Given the description of an element on the screen output the (x, y) to click on. 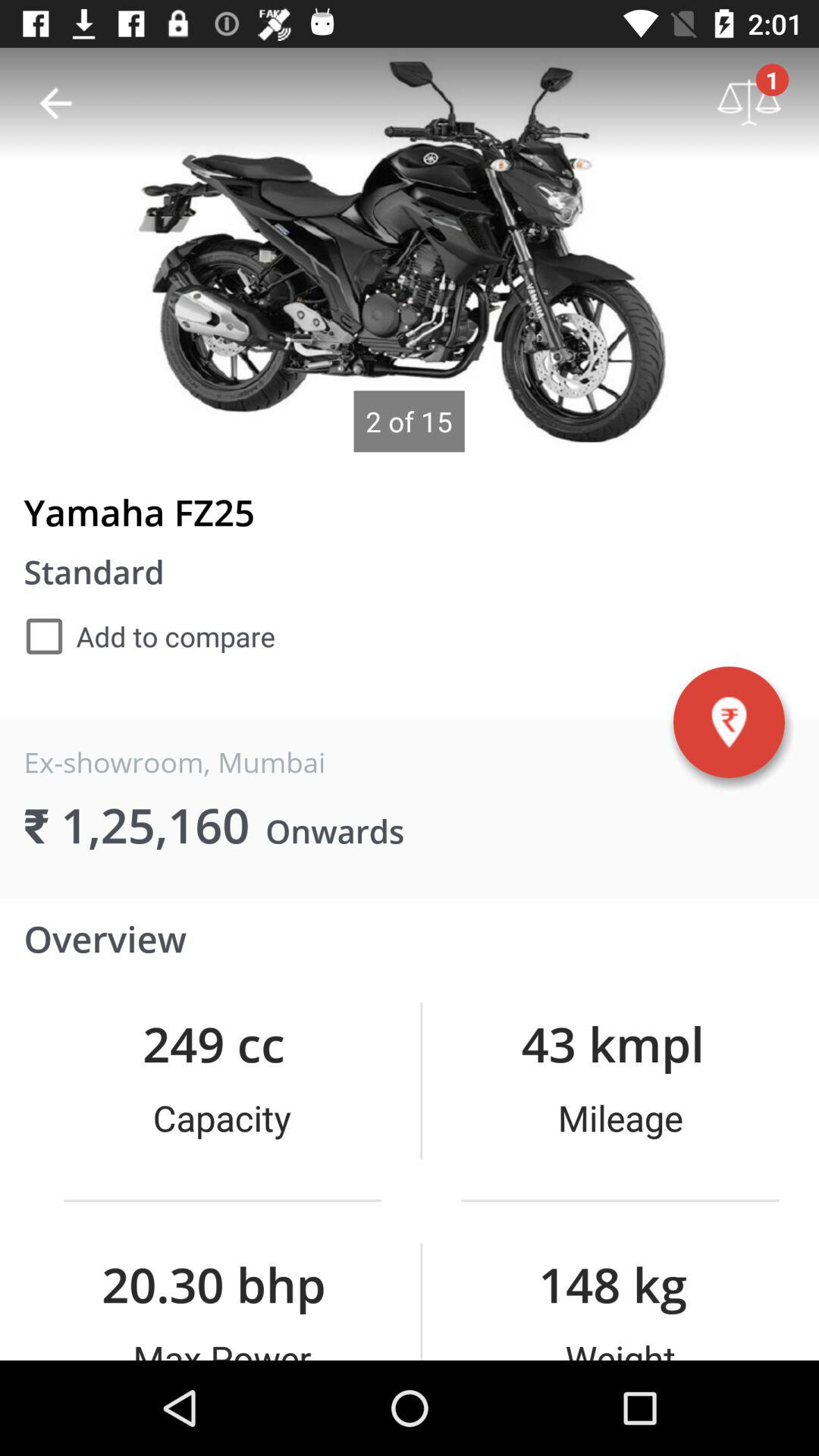
view image (409, 249)
